Given the description of an element on the screen output the (x, y) to click on. 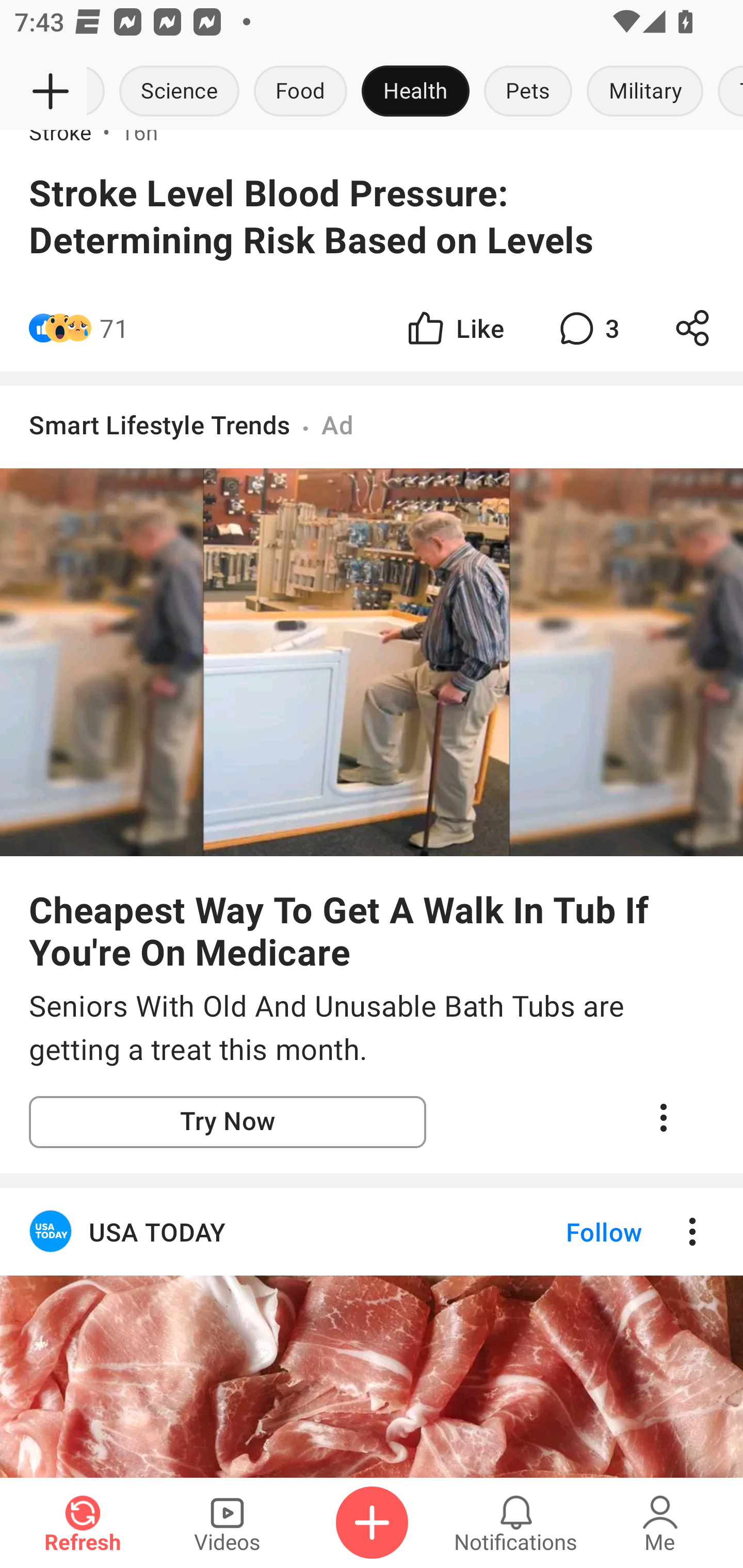
Science (179, 91)
Food (300, 91)
Health (415, 91)
Pets (528, 91)
Military (644, 91)
71 (114, 328)
Like (454, 328)
3 (587, 328)
Smart Lifestyle Trends (159, 424)
Try Now (227, 1121)
USA TODAY Follow (371, 1231)
Follow (569, 1231)
Videos (227, 1522)
Notifications (516, 1522)
Me (659, 1522)
